Given the description of an element on the screen output the (x, y) to click on. 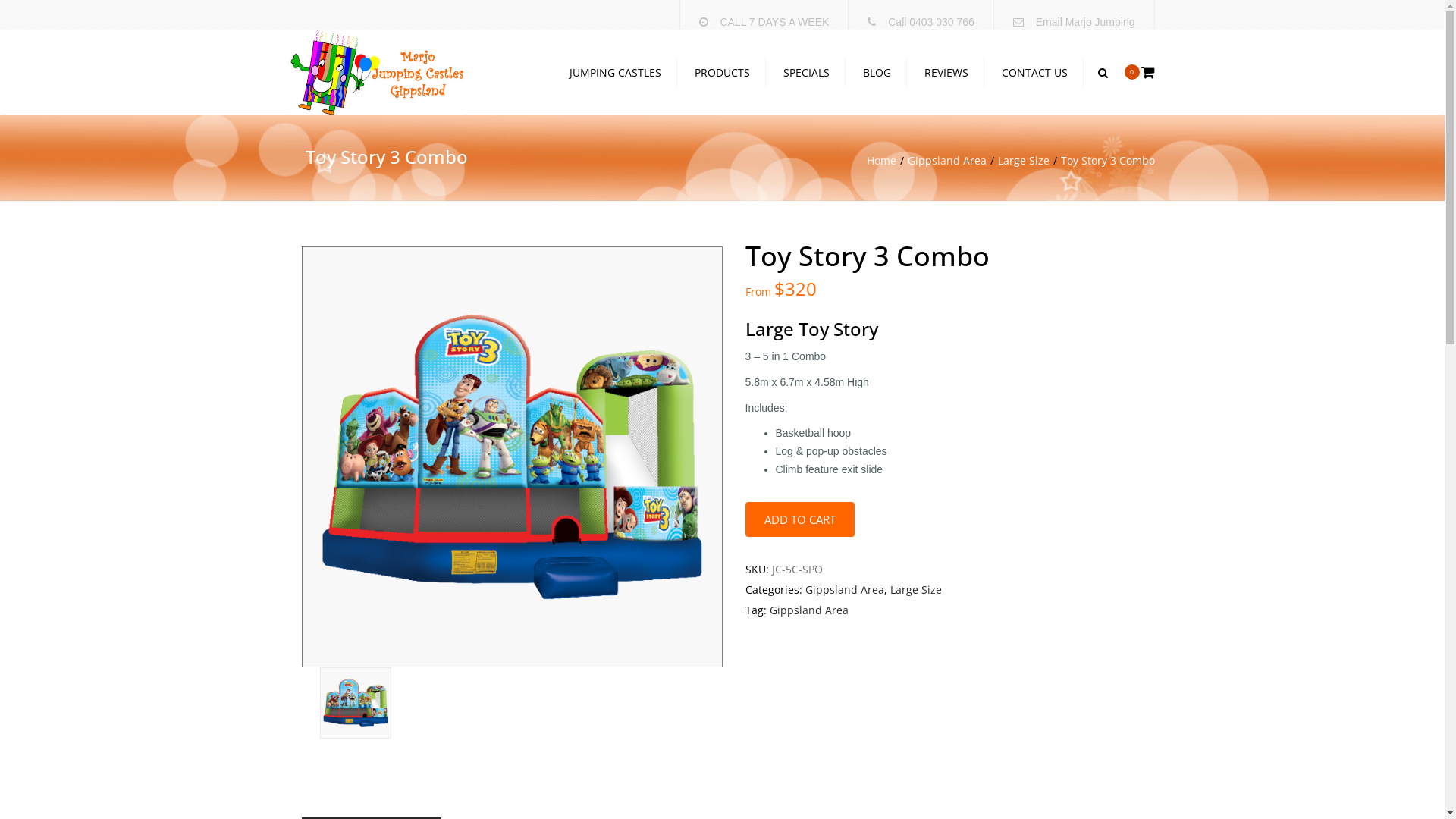
CONTACT US Element type: text (1034, 72)
Large Size Element type: text (915, 589)
Gippsland Area Element type: text (951, 160)
PRODUCTS Element type: text (722, 72)
Search Element type: text (1102, 72)
SPECIALS Element type: text (806, 72)
Home Element type: text (886, 160)
  Element type: hover (355, 702)
JUMPING CASTLES Element type: text (614, 72)
0 Element type: text (1138, 77)
Call 0403 030 766 Element type: text (931, 21)
Gippsland Area Element type: text (807, 609)
Email Marjo Jumping Element type: text (1085, 21)
  Element type: hover (511, 456)
BLOG Element type: text (876, 72)
ADD TO CART Element type: text (798, 519)
REVIEWS Element type: text (945, 72)
Large Size Element type: text (1028, 160)
Gippsland Area Element type: text (844, 589)
